Given the description of an element on the screen output the (x, y) to click on. 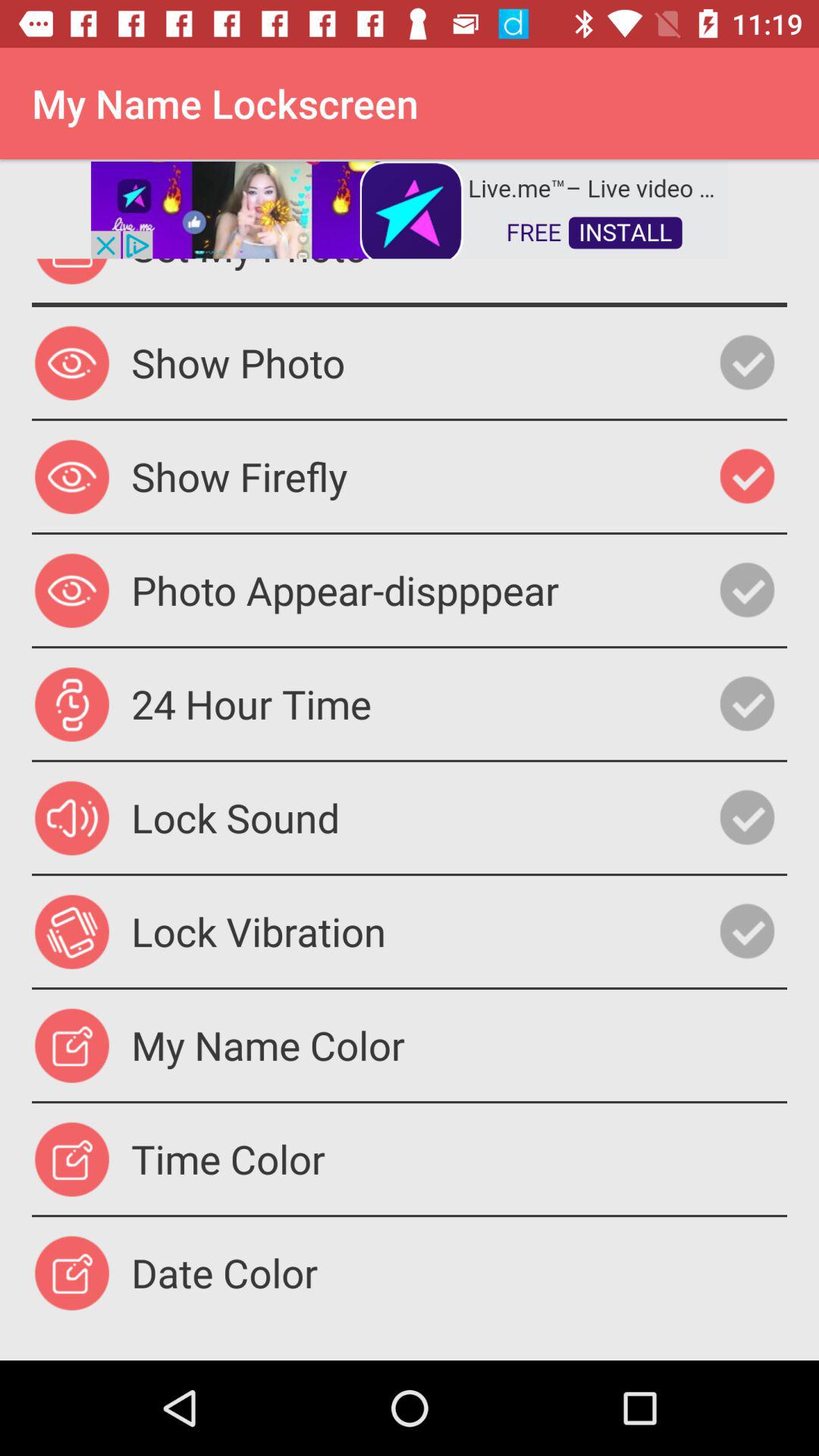
advertisement (409, 208)
